Given the description of an element on the screen output the (x, y) to click on. 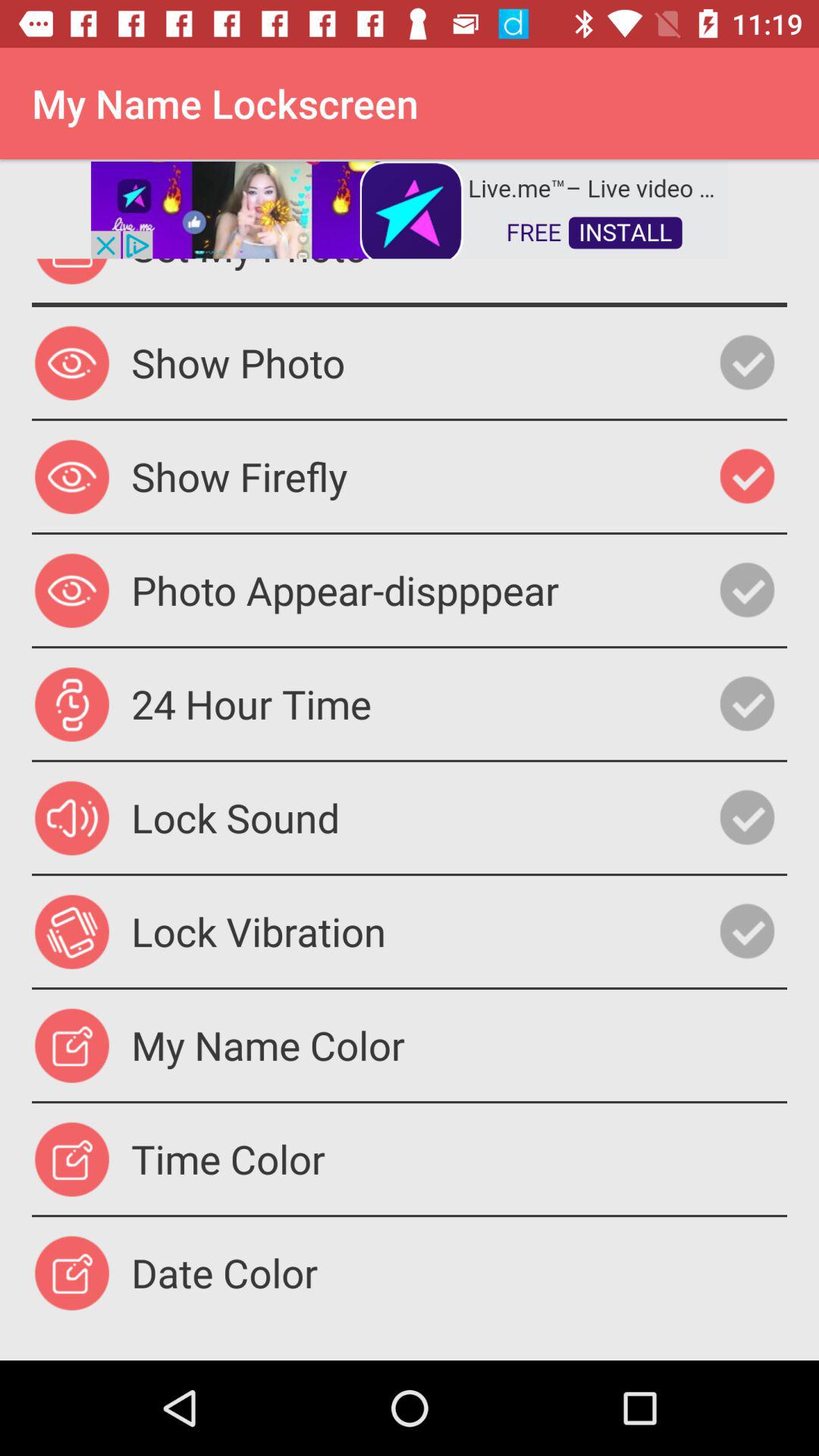
advertisement (409, 208)
